Given the description of an element on the screen output the (x, y) to click on. 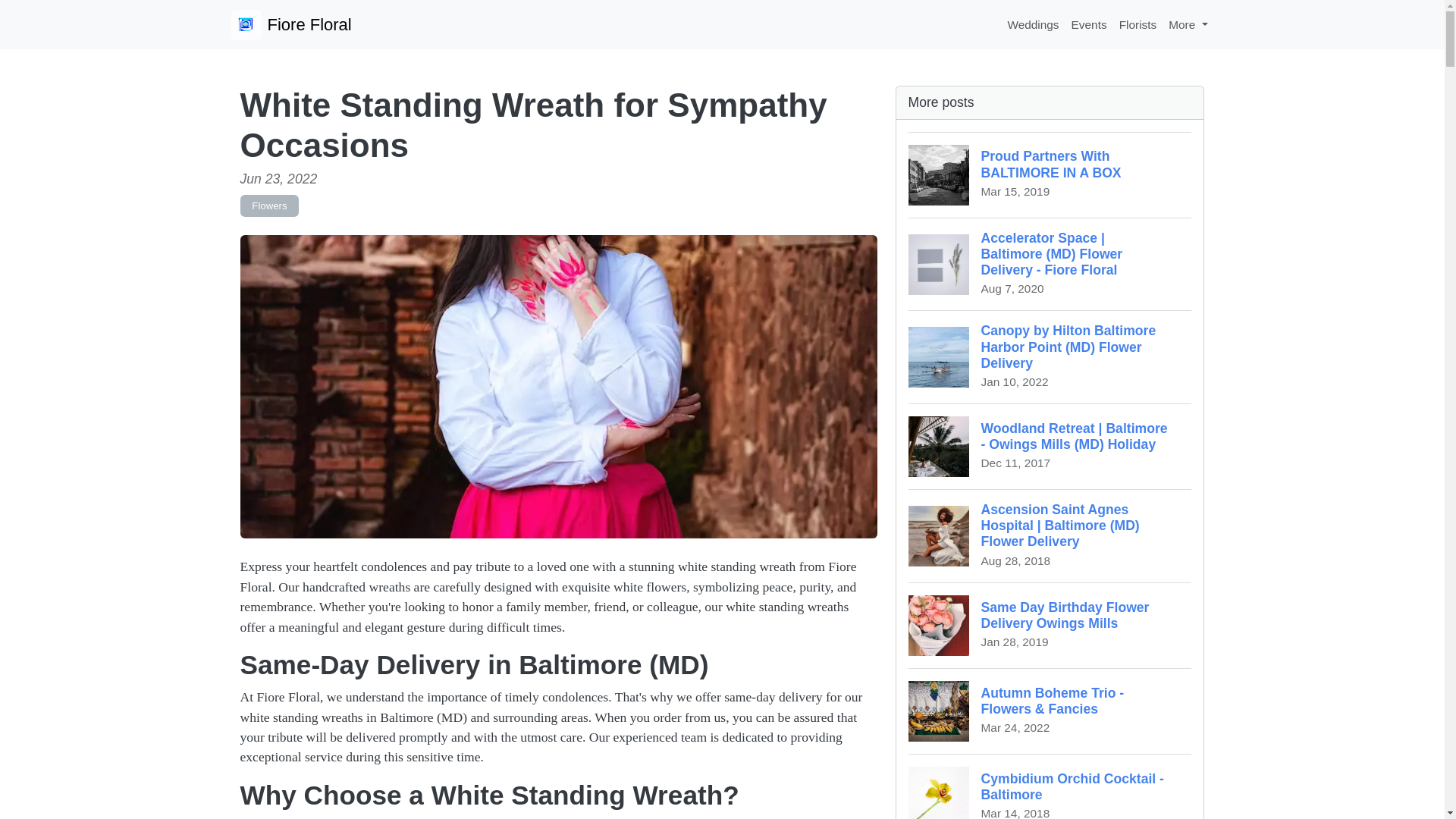
Florists (1138, 24)
More (1050, 625)
Events (1186, 24)
Weddings (1050, 174)
Fiore Floral (1089, 24)
Flowers (1050, 786)
